Given the description of an element on the screen output the (x, y) to click on. 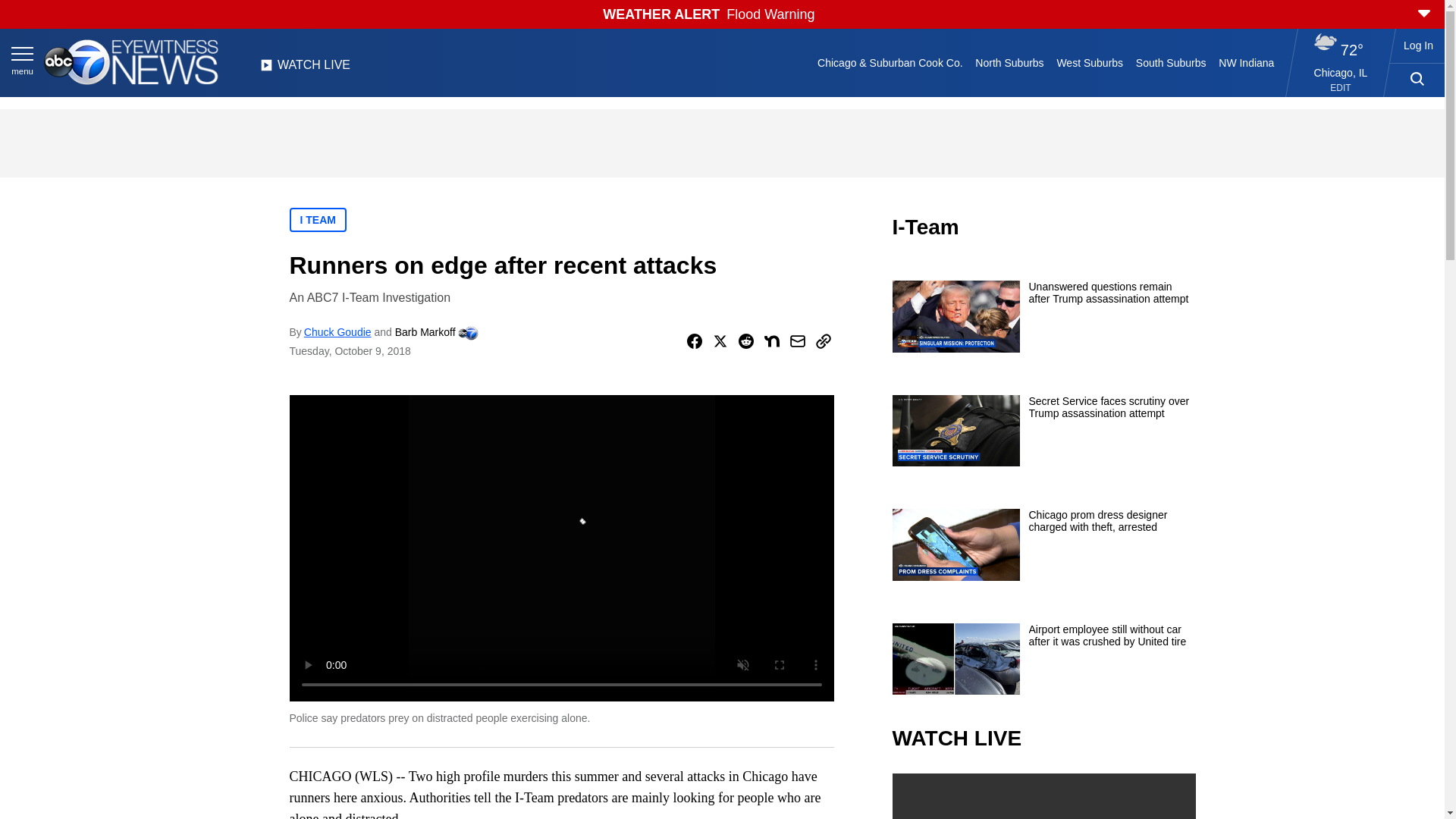
NW Indiana (1246, 62)
South Suburbs (1170, 62)
West Suburbs (1089, 62)
WATCH LIVE (305, 69)
EDIT (1340, 87)
video.title (1043, 796)
Chicago, IL (1340, 72)
North Suburbs (1009, 62)
